Given the description of an element on the screen output the (x, y) to click on. 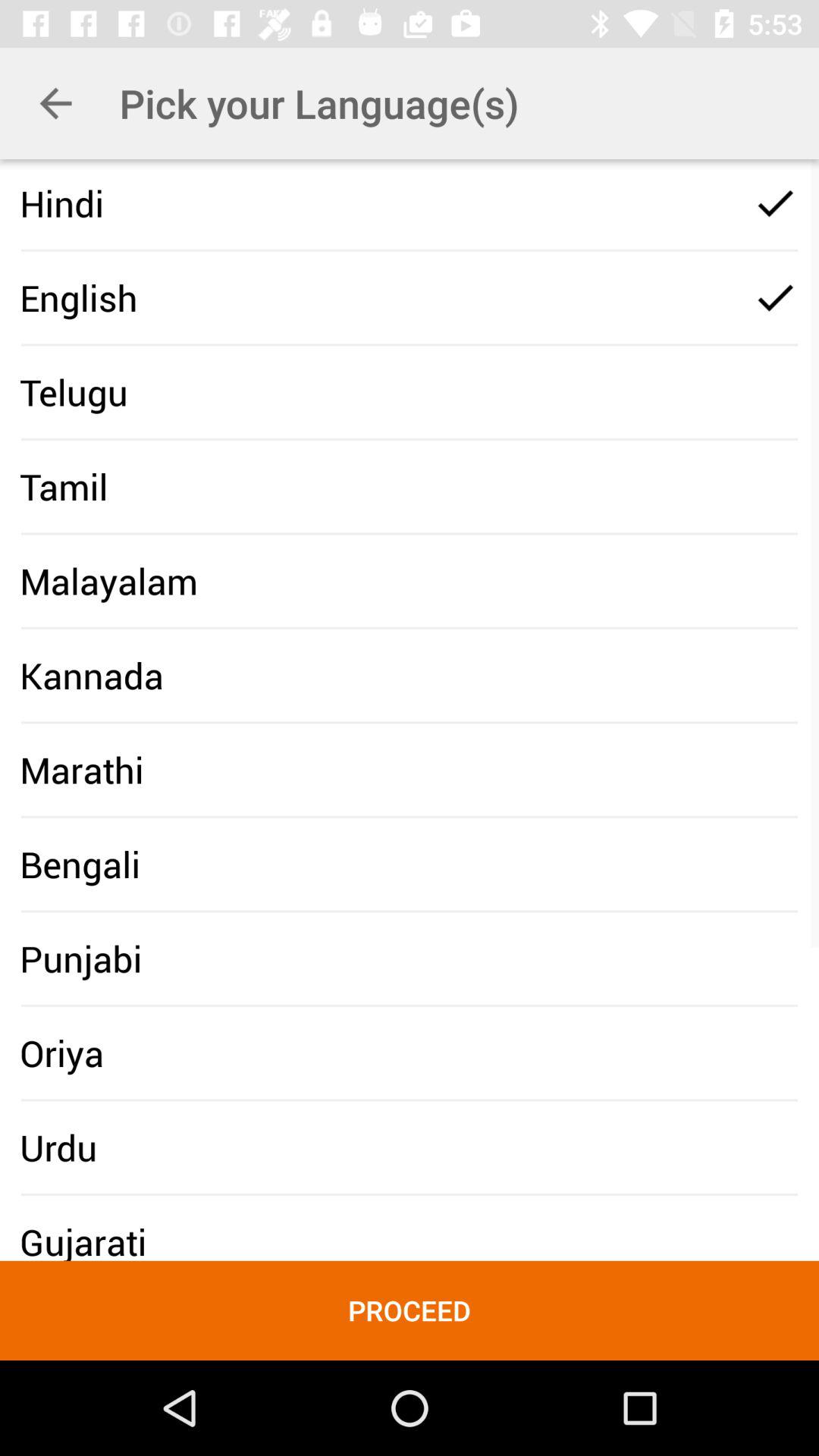
turn on the english icon (78, 297)
